Given the description of an element on the screen output the (x, y) to click on. 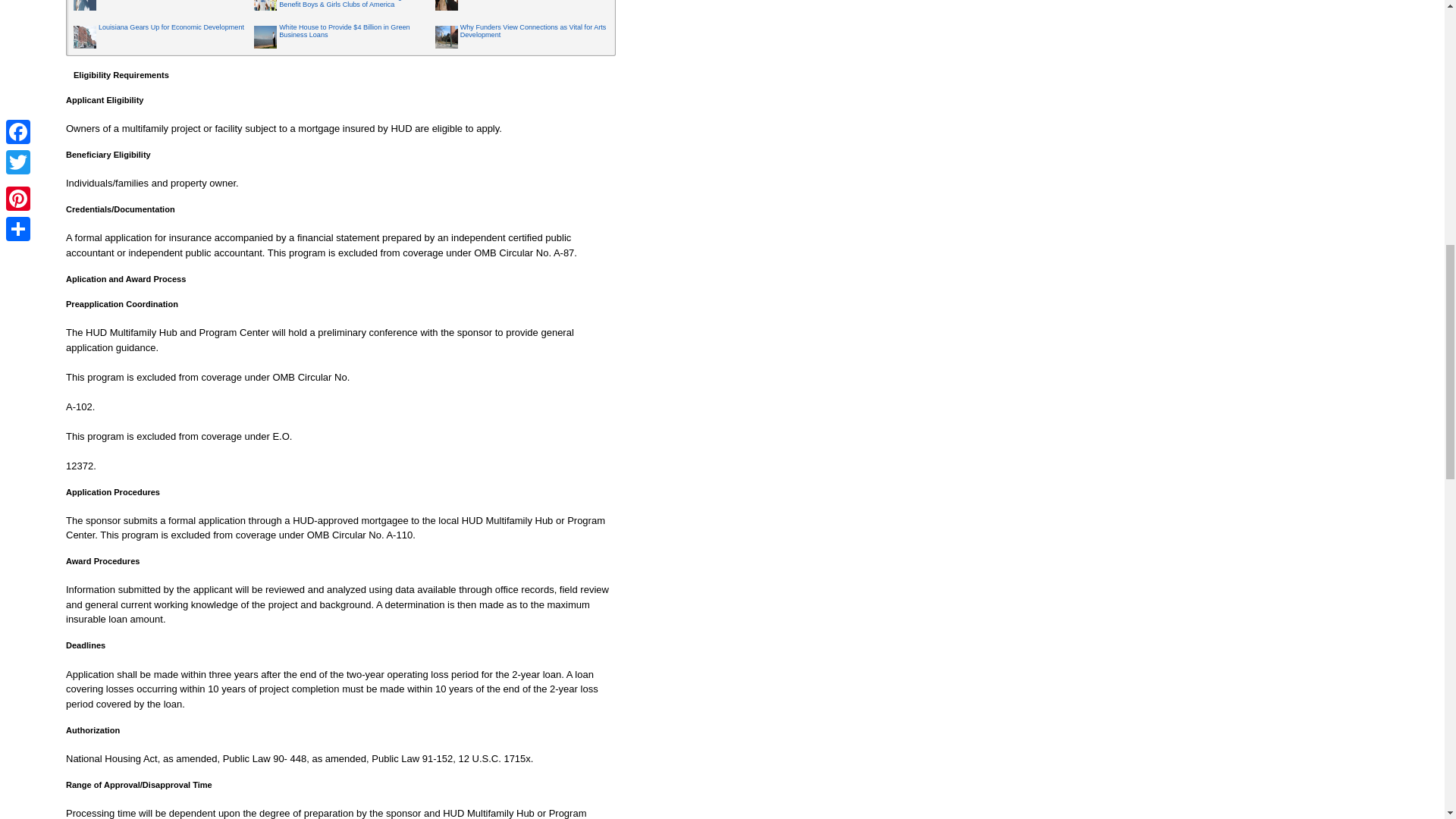
Louisiana Gears Up for Economic Development (171, 27)
Why Funders View Connections as Vital for Arts Development (533, 30)
